Given the description of an element on the screen output the (x, y) to click on. 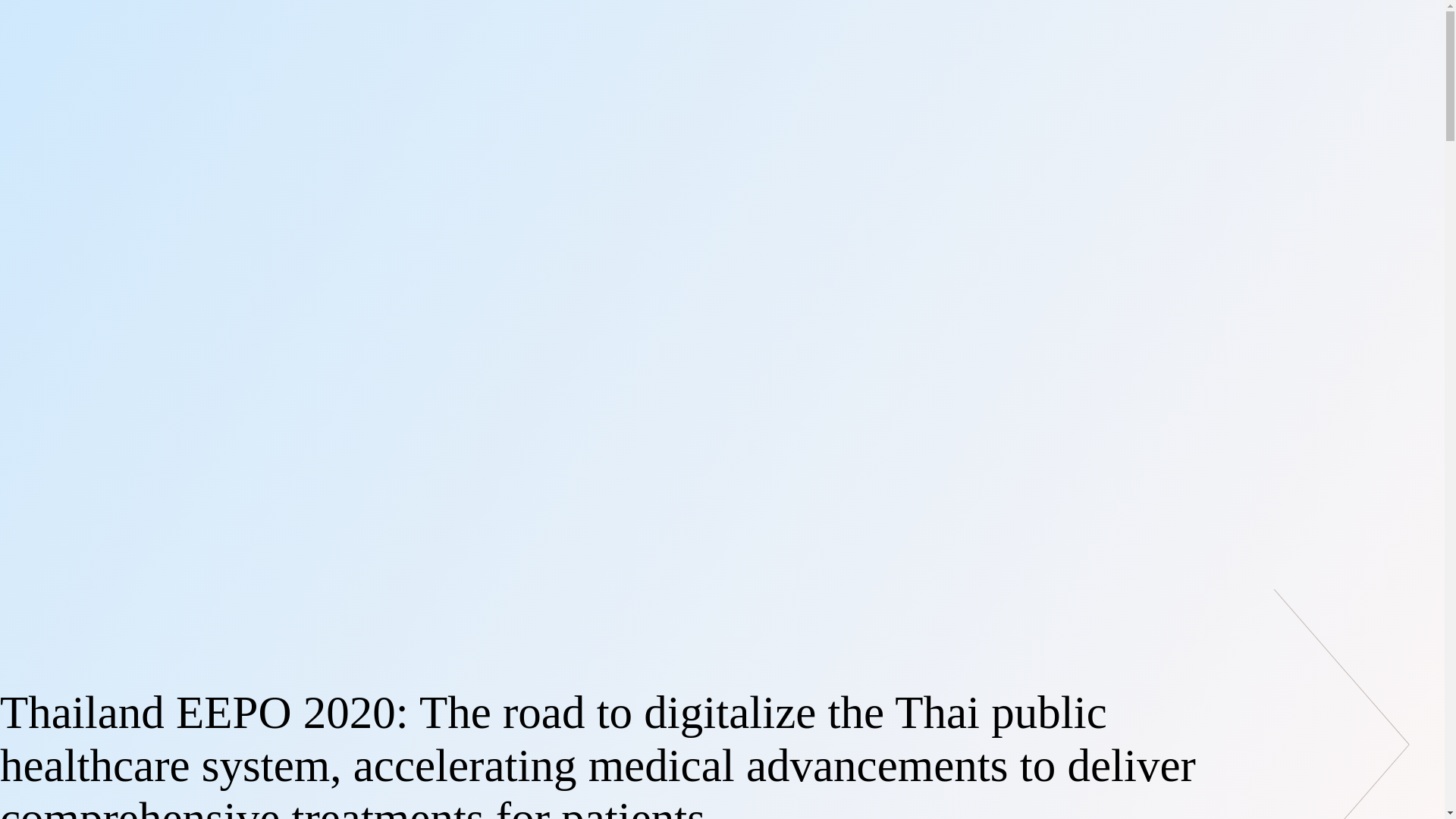
Media (21, 478)
Careers (87, 478)
Careers (49, 336)
Media (44, 287)
Stories (245, 571)
Worldwide (59, 58)
Solutions (139, 568)
Stories (46, 225)
About Roche (40, 568)
